Given the description of an element on the screen output the (x, y) to click on. 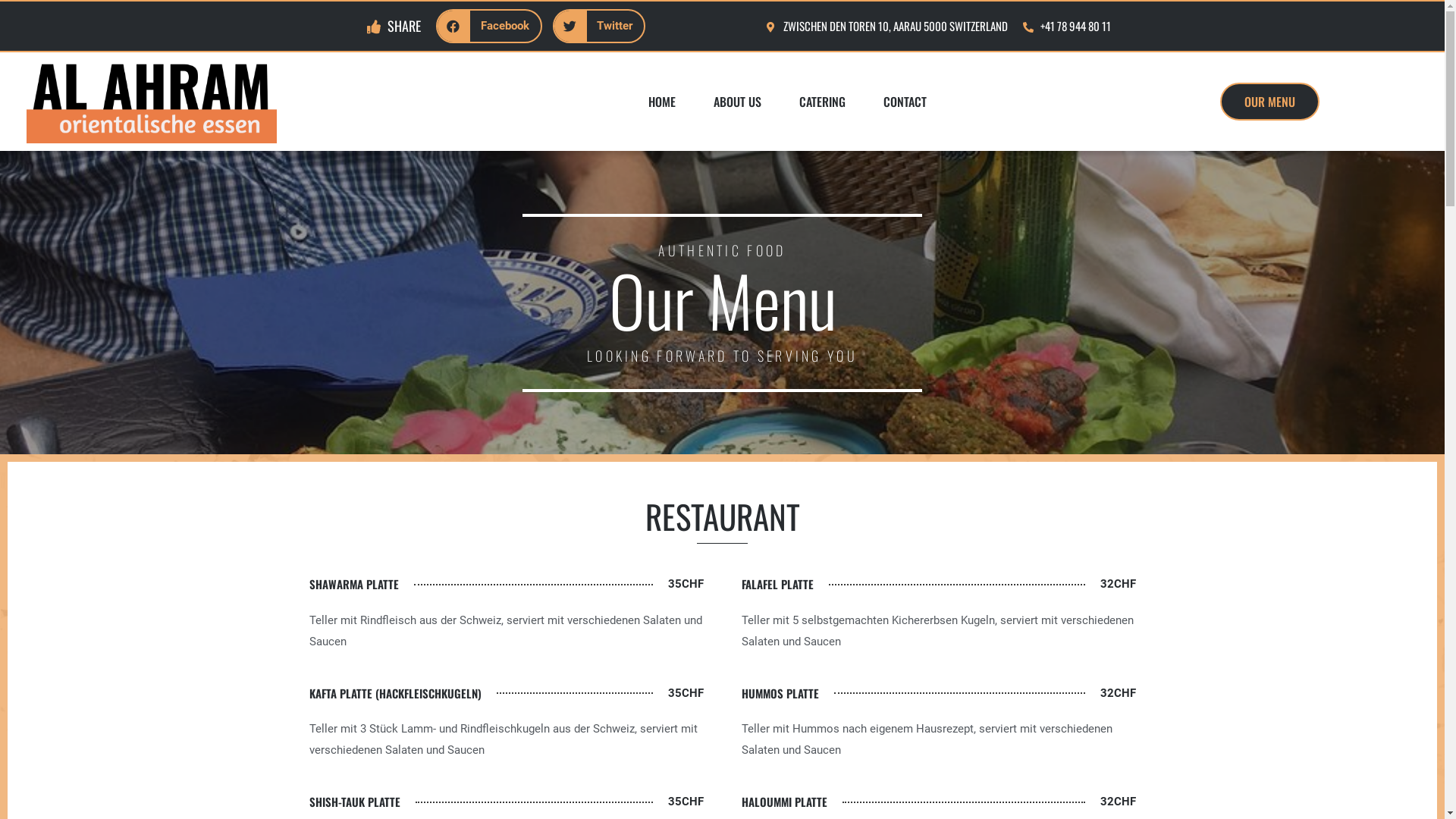
HALOUMMI PLATTE Element type: text (784, 801)
ABOUT US Element type: text (737, 101)
OUR MENU Element type: text (1269, 101)
HOME Element type: text (662, 101)
FALAFEL PLATTE Element type: text (777, 584)
SHAWARMA PLATTE Element type: text (353, 584)
KAFTA PLATTE (HACKFLEISCHKUGELN) Element type: text (395, 693)
+41 78 944 80 11 Element type: text (1066, 26)
HUMMOS PLATTE Element type: text (780, 693)
SHISH-TAUK PLATTE Element type: text (354, 801)
CATERING Element type: text (821, 101)
CONTACT Element type: text (905, 101)
ZWISCHEN DEN TOREN 10, AARAU 5000 SWITZERLAND Element type: text (886, 26)
